Given the description of an element on the screen output the (x, y) to click on. 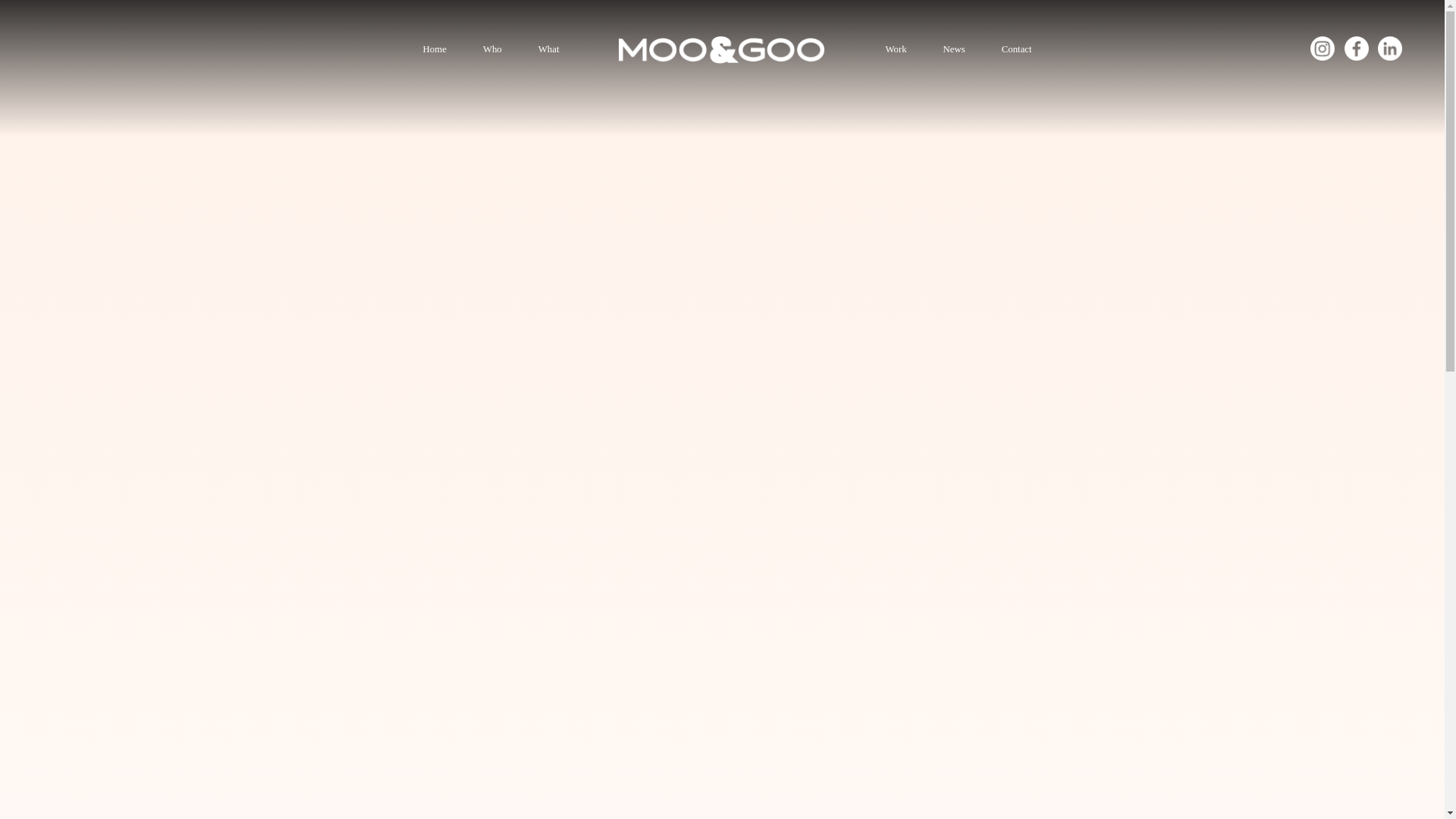
What (548, 49)
Home (434, 49)
Contact (1016, 49)
News (954, 49)
Work (895, 49)
Who (492, 49)
